Given the description of an element on the screen output the (x, y) to click on. 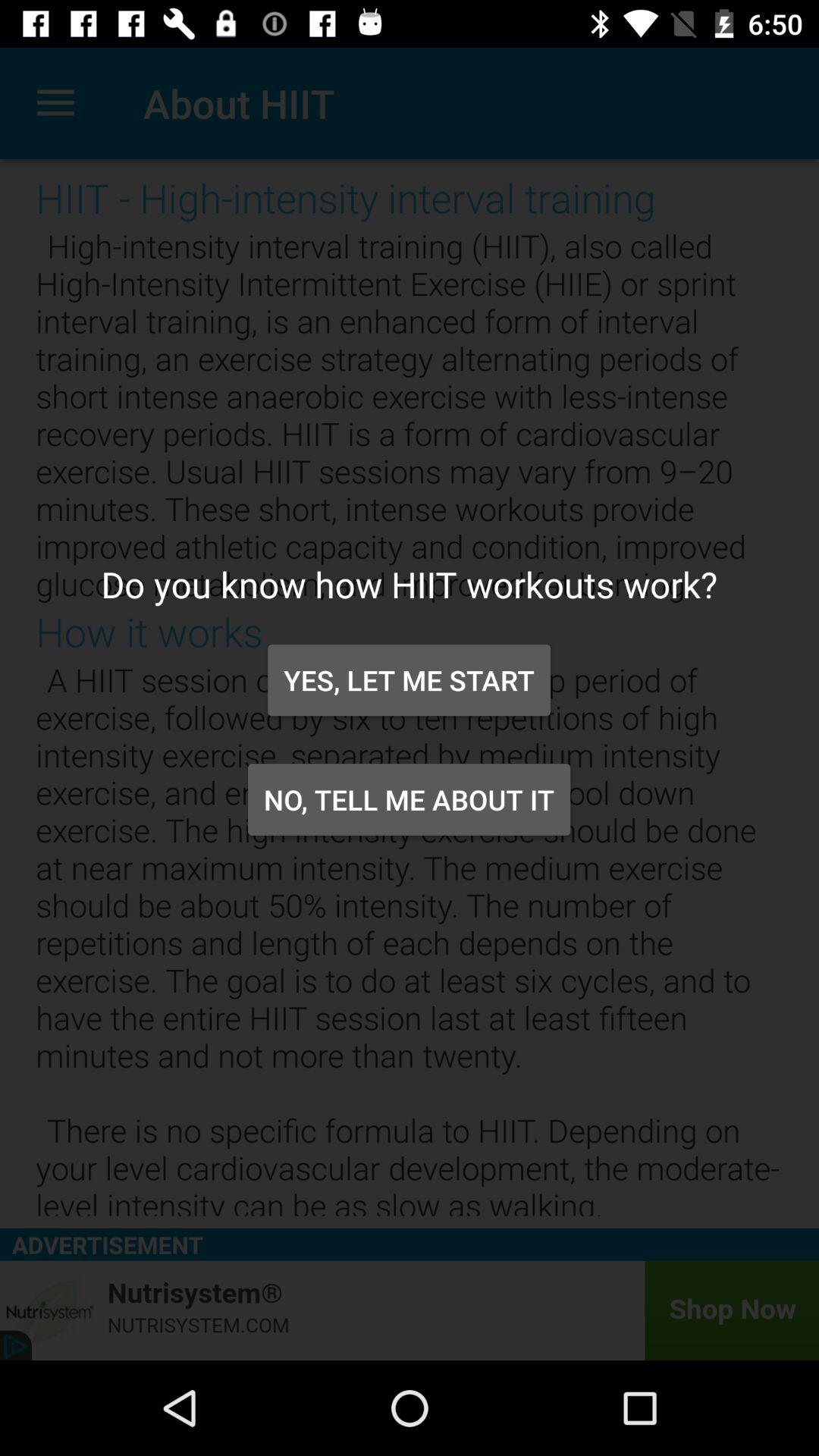
scroll until yes let me icon (408, 680)
